Given the description of an element on the screen output the (x, y) to click on. 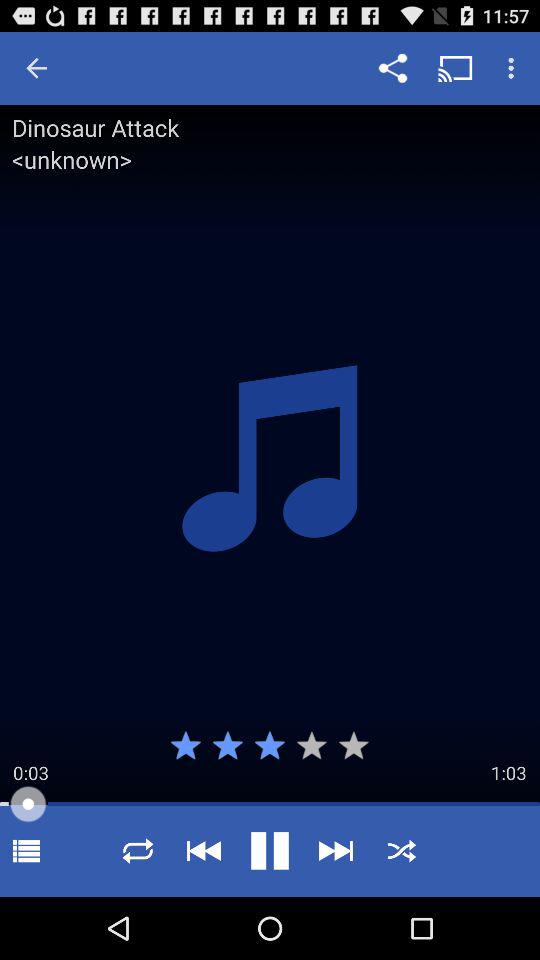
open main menu (26, 850)
